Given the description of an element on the screen output the (x, y) to click on. 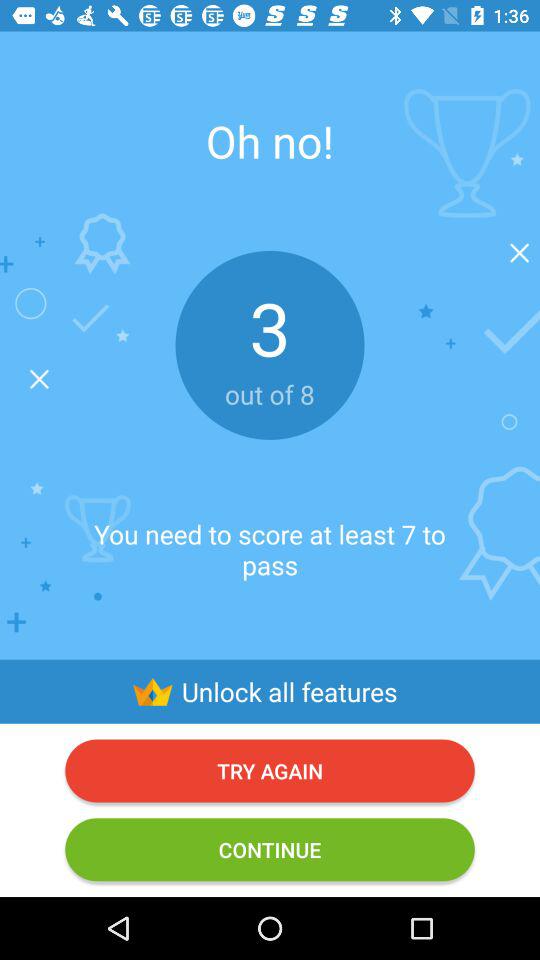
select the continue item (269, 849)
